Given the description of an element on the screen output the (x, y) to click on. 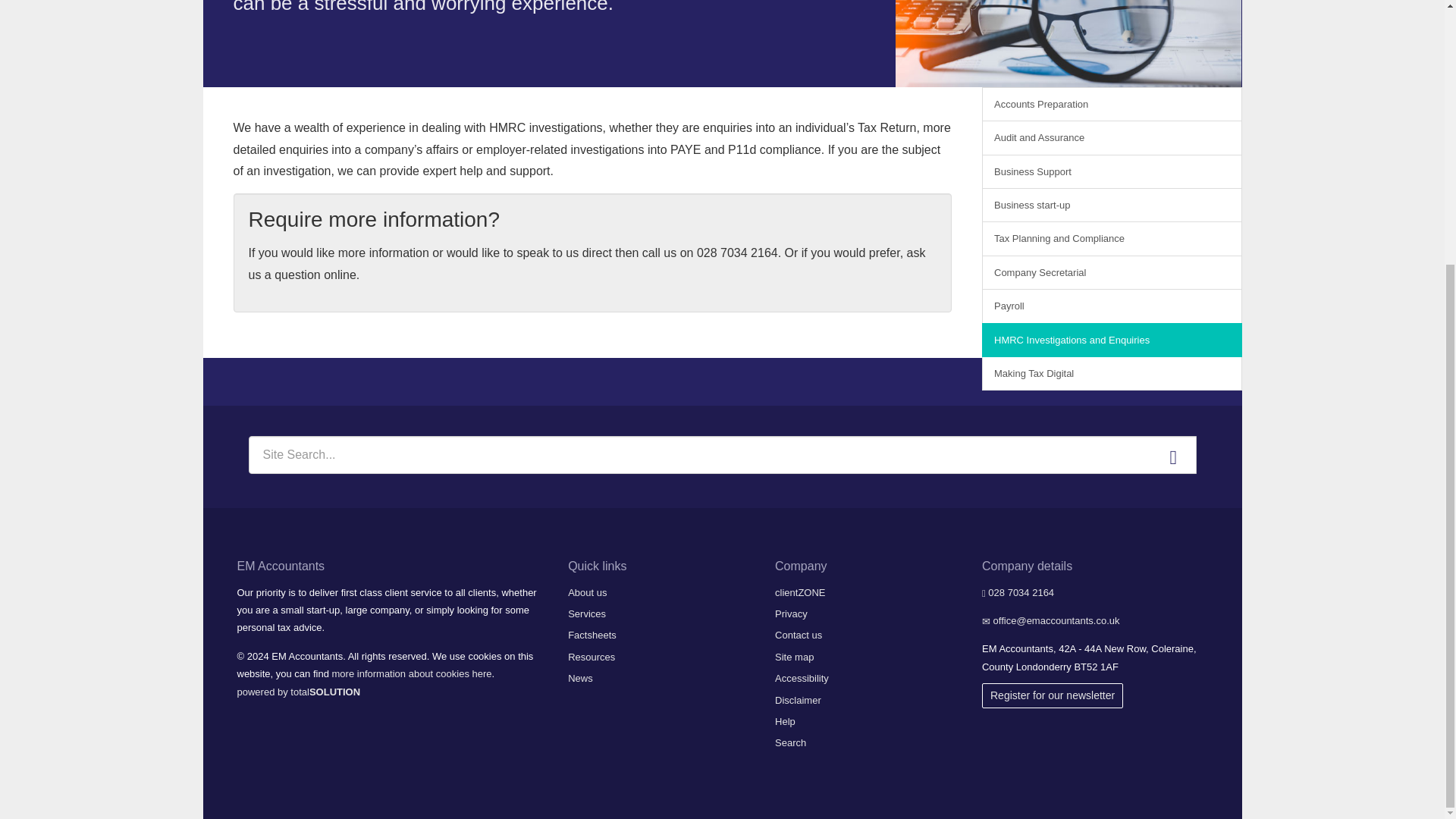
Business Support (1111, 171)
About us (587, 592)
Click to ask a question via a quick form (587, 263)
more information about cookies here (411, 673)
Accessibility (801, 677)
Site map (793, 656)
Factsheets (591, 634)
Payroll (1111, 305)
Company Secretarial (1111, 272)
Making Tax Digital (1111, 373)
clientZONE (799, 592)
Tax Planning and Compliance (1111, 238)
powered by totalSOLUTION (297, 691)
Resources (590, 656)
Business start-up (1111, 204)
